Given the description of an element on the screen output the (x, y) to click on. 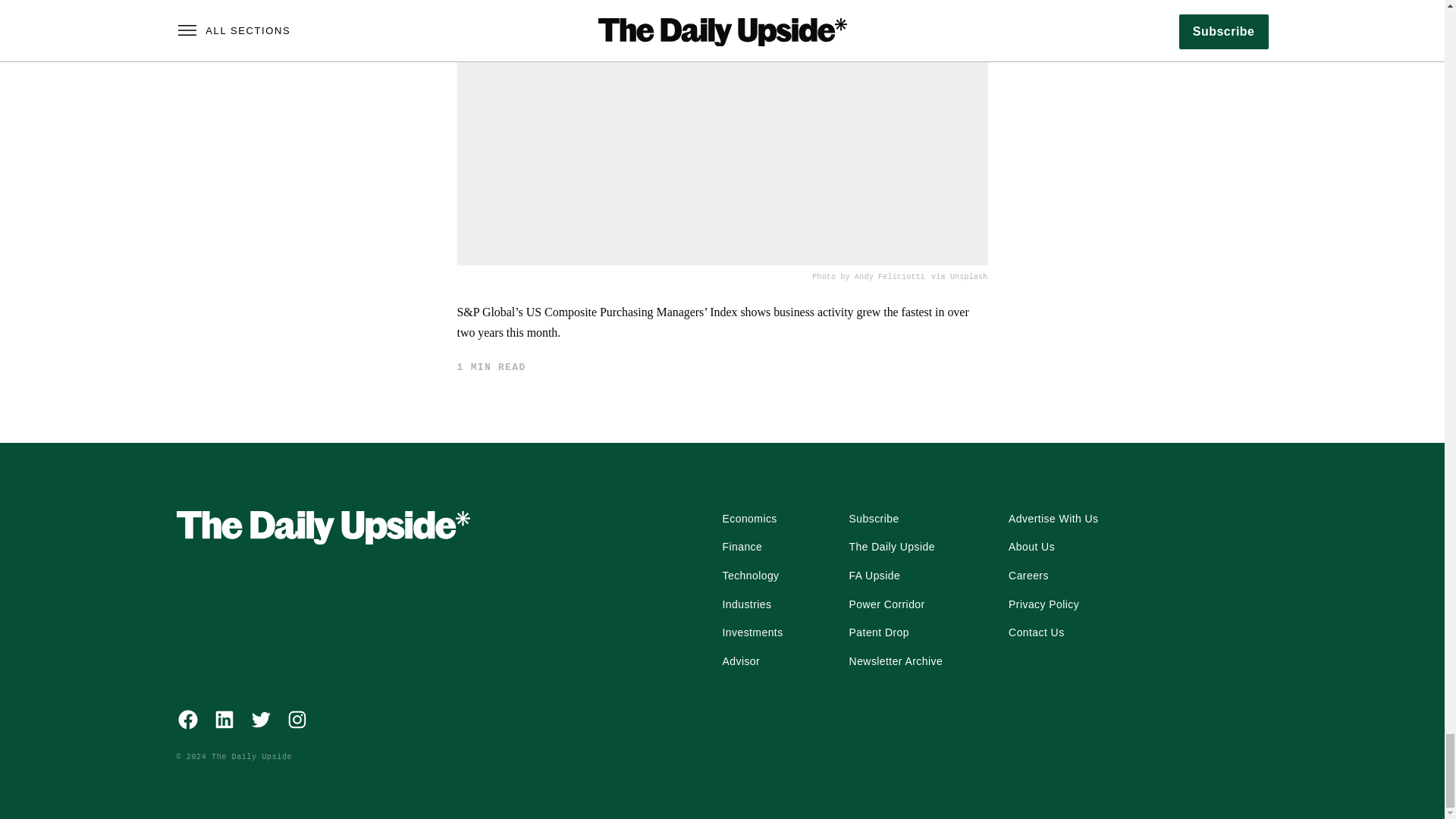
Technology articles (750, 576)
Economics Articles (749, 519)
Investment articles (752, 632)
Industry articles (746, 605)
Finance Articles (741, 547)
Advisor articles (741, 661)
